Given the description of an element on the screen output the (x, y) to click on. 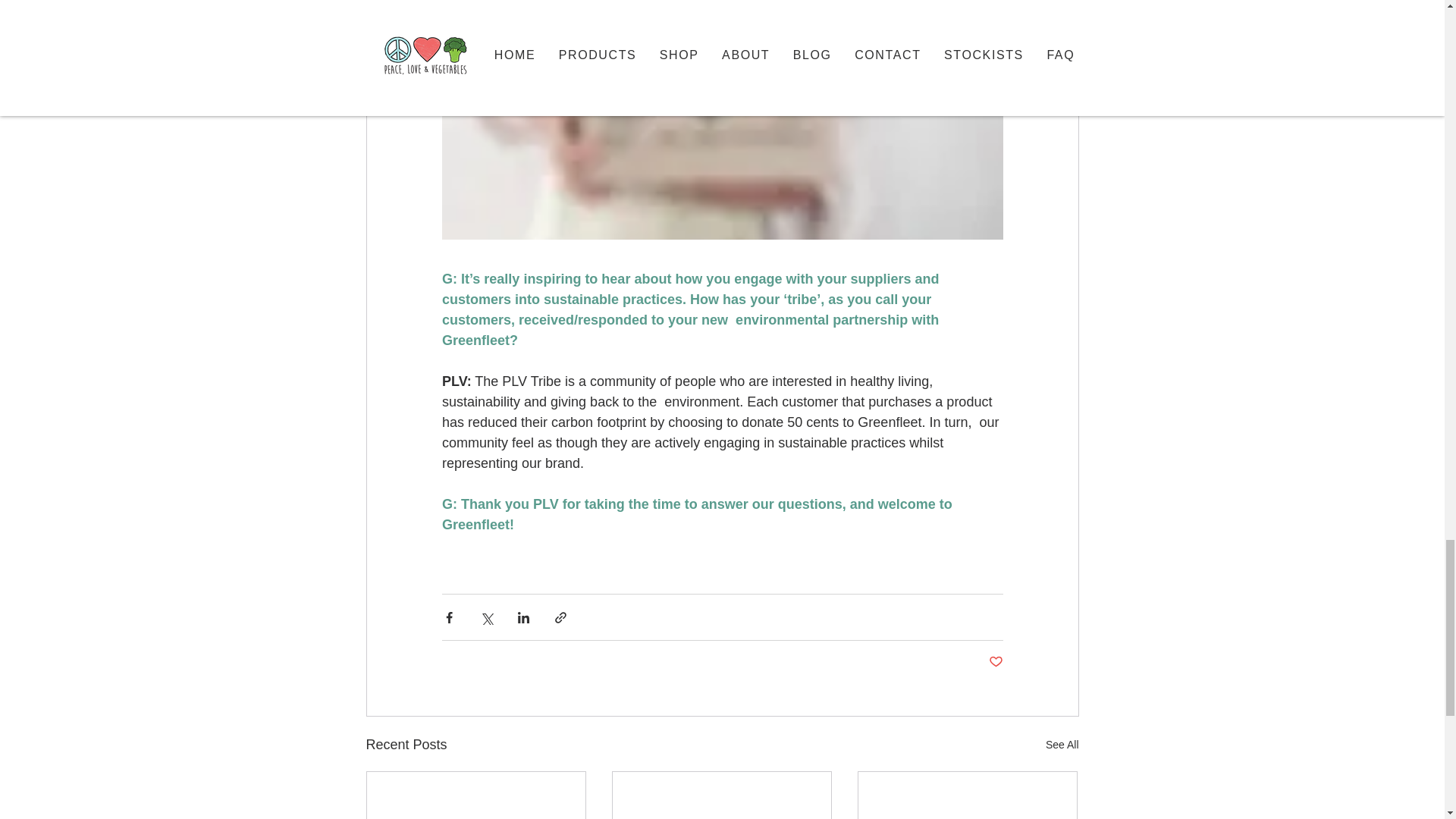
See All (1061, 744)
Post not marked as liked (995, 662)
